Given the description of an element on the screen output the (x, y) to click on. 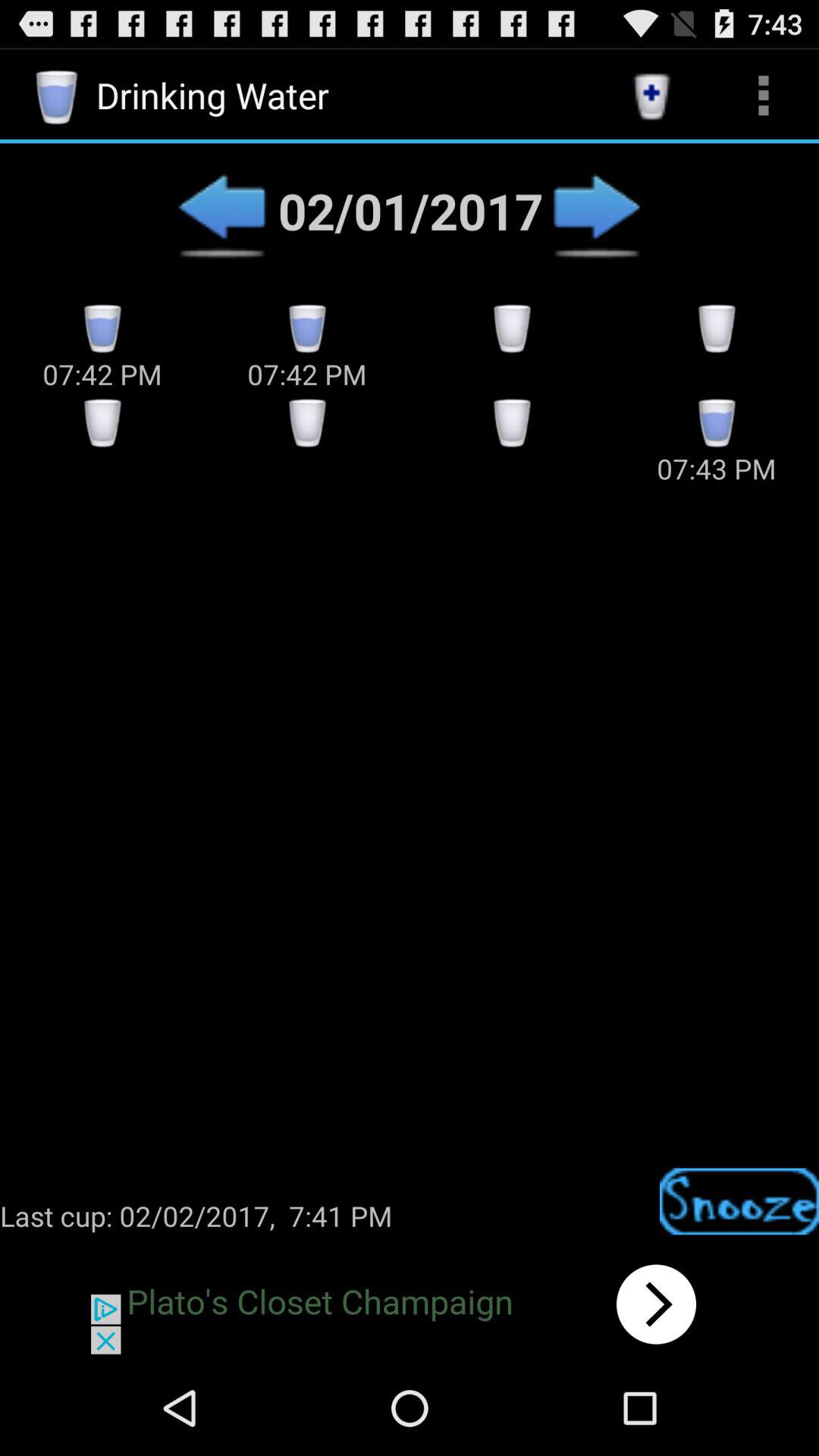
next option (596, 210)
